Given the description of an element on the screen output the (x, y) to click on. 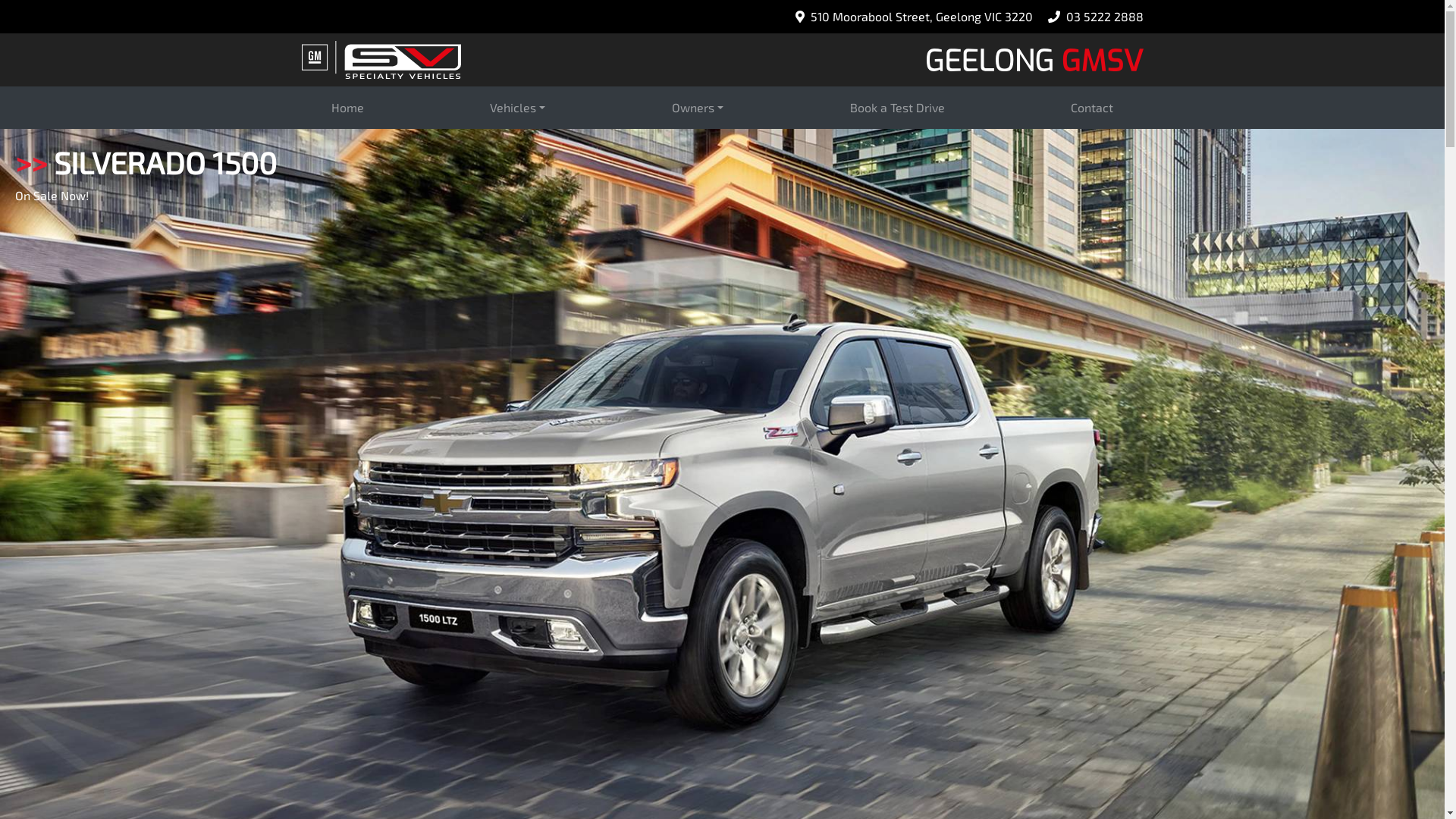
Owners Element type: text (697, 107)
Book a Test Drive Element type: text (897, 107)
Home Element type: text (346, 107)
Vehicles Element type: text (517, 107)
Contact Element type: text (1091, 107)
